Given the description of an element on the screen output the (x, y) to click on. 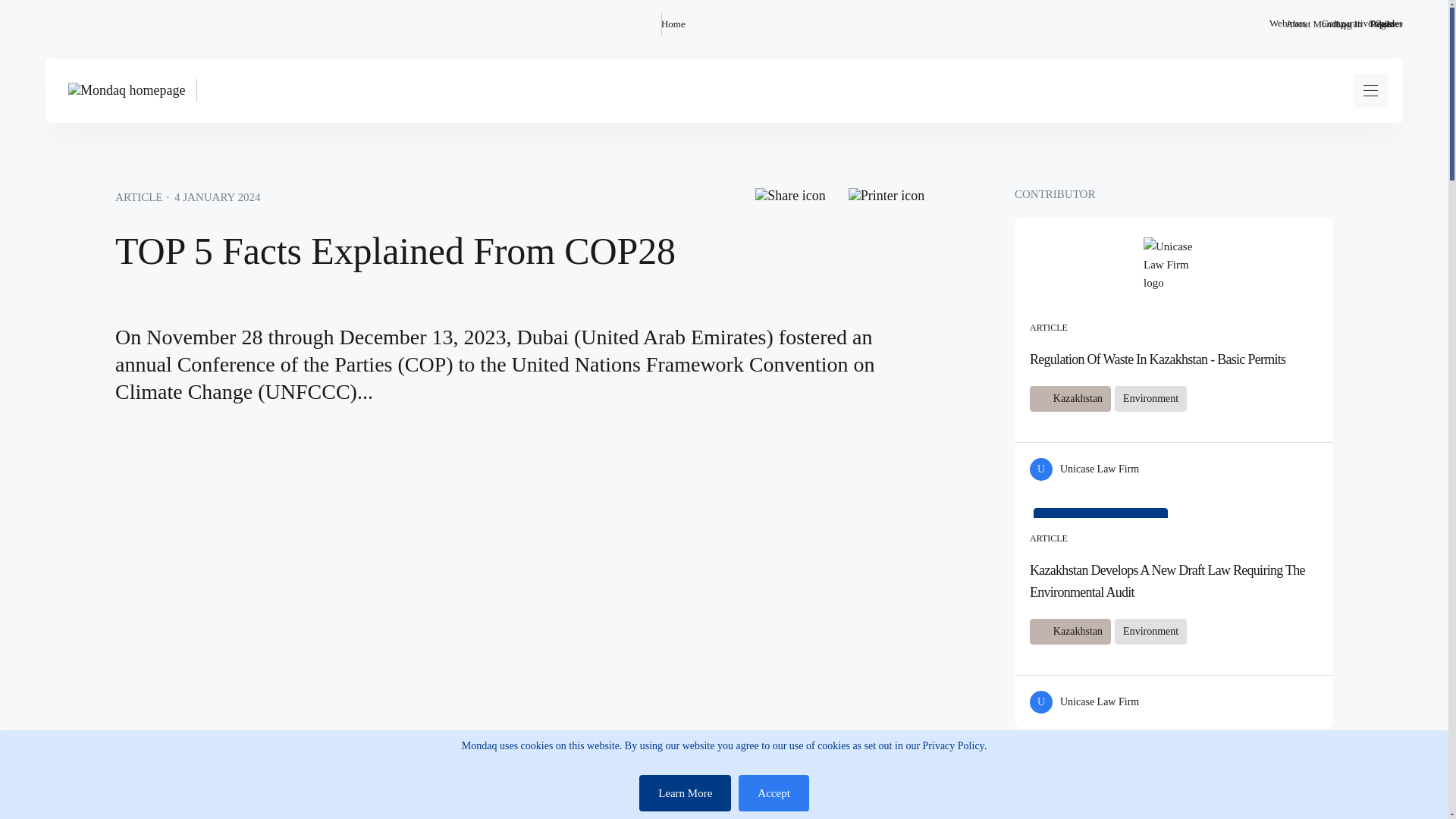
Home (673, 24)
Webinars (1287, 23)
About Mondaq (1315, 24)
Comparative Guides (1362, 23)
